Given the description of an element on the screen output the (x, y) to click on. 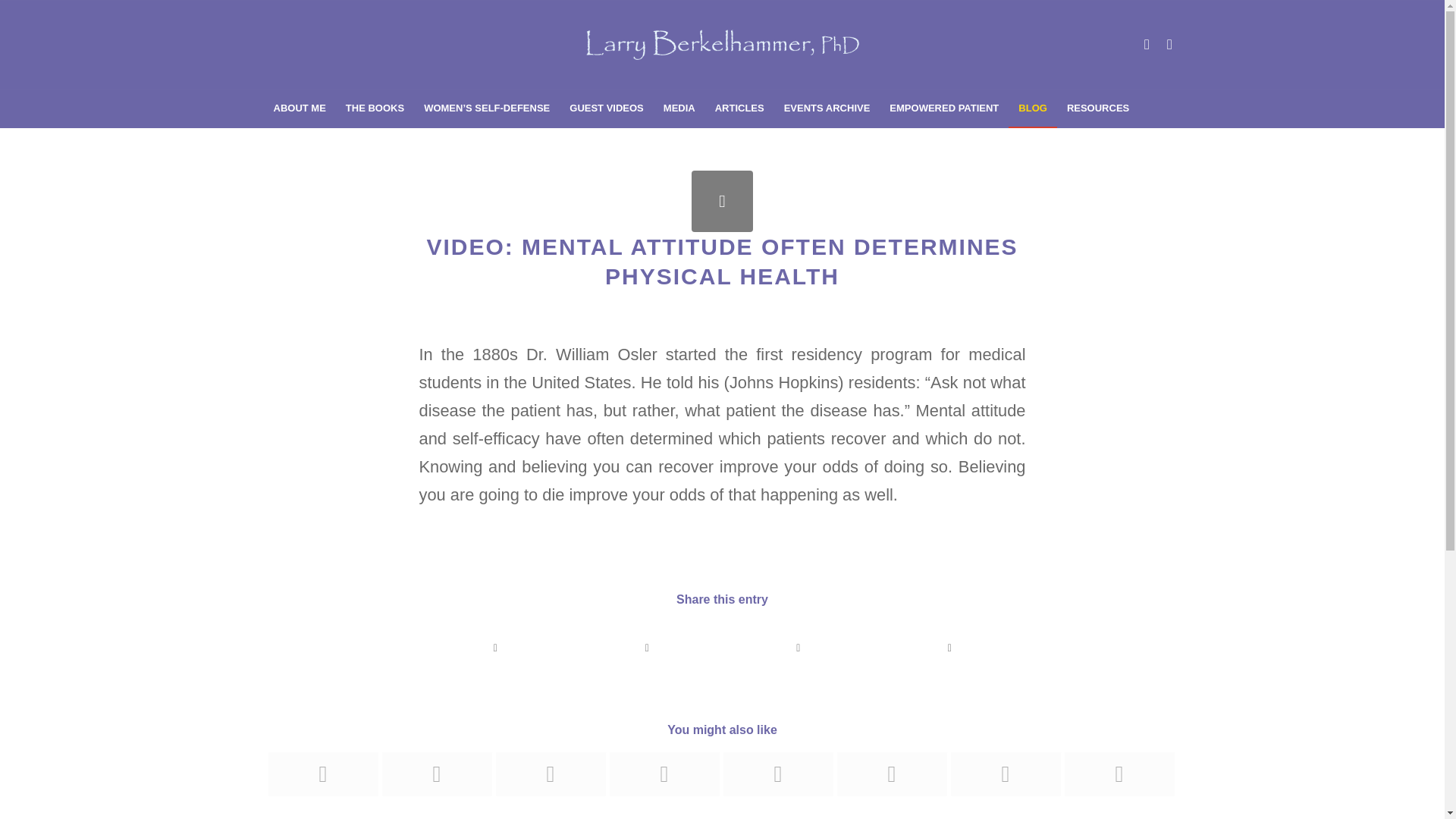
Video: Three Questions To Ask Your Doctor (322, 773)
GUEST VIDEOS (606, 108)
EMPOWERED PATIENT (944, 108)
ABOUT ME (299, 108)
Facebook (1169, 44)
Video: Mental Attitude Often Determines Physical Health (721, 200)
RESOURCES (1097, 108)
ARTICLES (739, 108)
THE BOOKS (374, 108)
BLOG (1033, 108)
MEDIA (678, 108)
EVENTS ARCHIVE (827, 108)
CONTACT (297, 146)
Youtube (1146, 44)
